Given the description of an element on the screen output the (x, y) to click on. 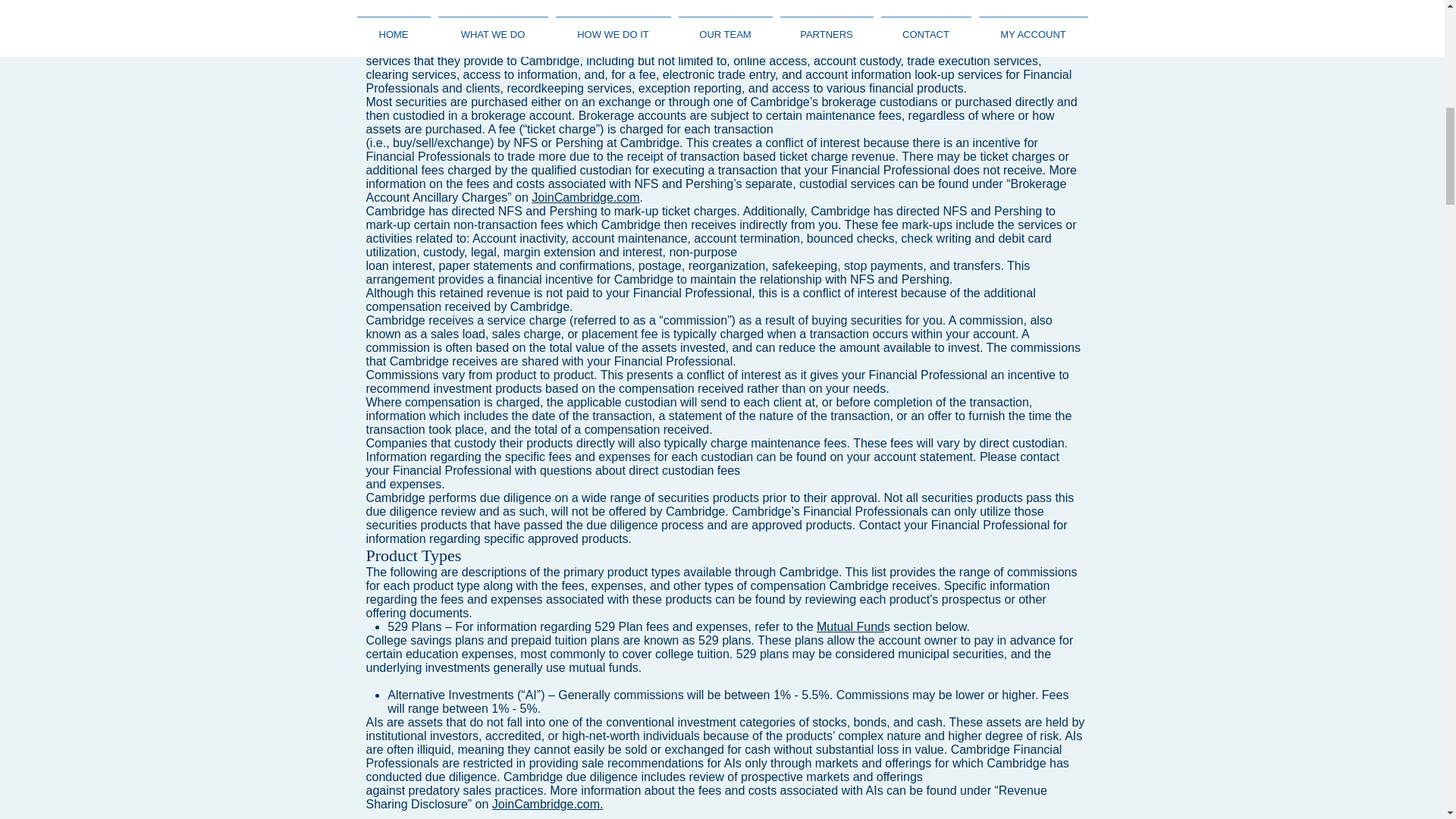
JoinCambridge.com. (548, 803)
JoinCambridge.com (585, 196)
Mutual Fund (849, 626)
